Given the description of an element on the screen output the (x, y) to click on. 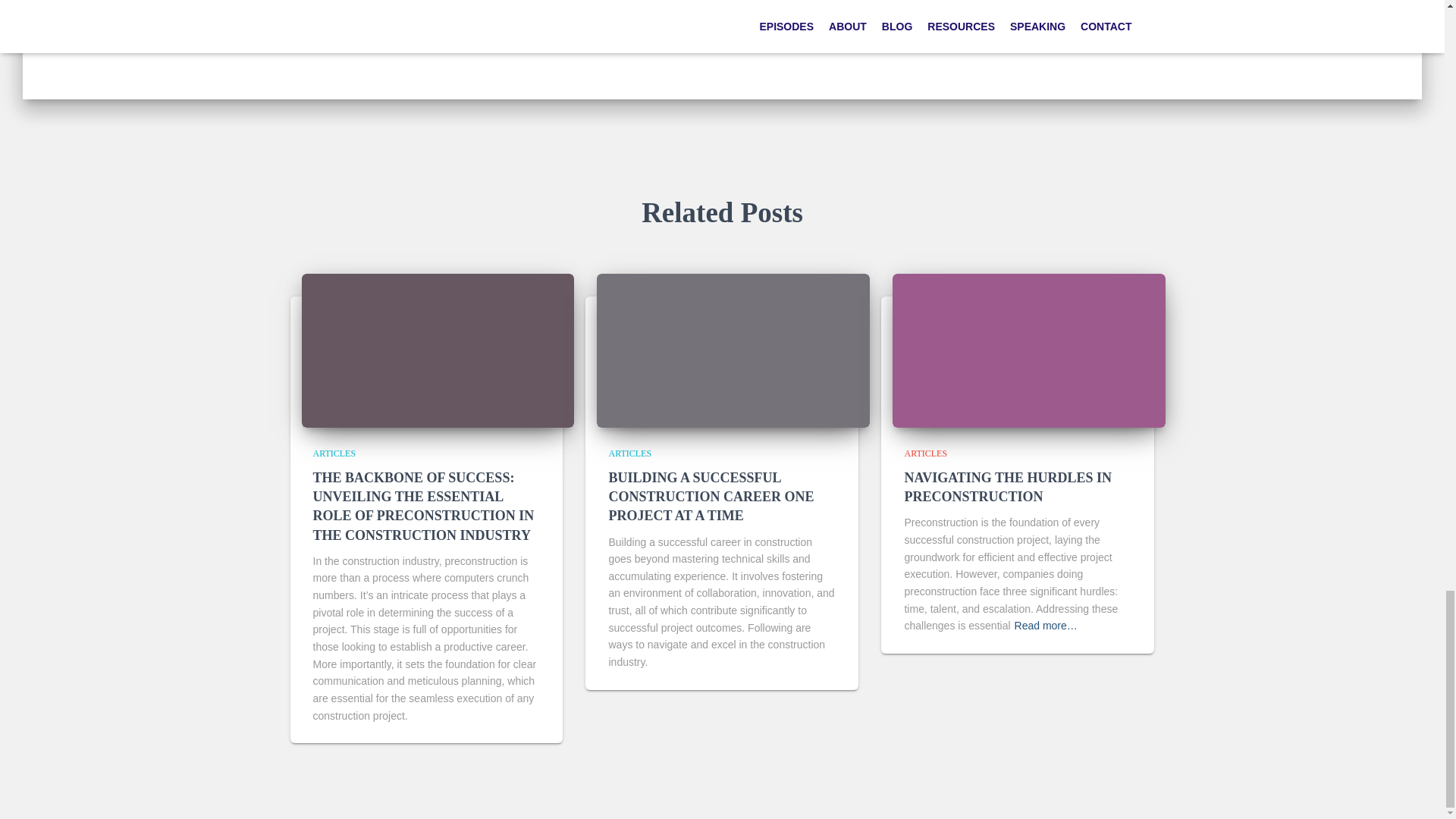
View all posts in Articles (925, 452)
ARTICLES (925, 452)
NAVIGATING THE HURDLES IN PRECONSTRUCTION (1008, 487)
Navigating the Hurdles in Preconstruction (1029, 349)
Navigating the Hurdles in Preconstruction (1008, 487)
ARTICLES (548, 3)
View all posts in Articles (334, 452)
ARTICLES (629, 452)
ARTICLES (334, 452)
